Given the description of an element on the screen output the (x, y) to click on. 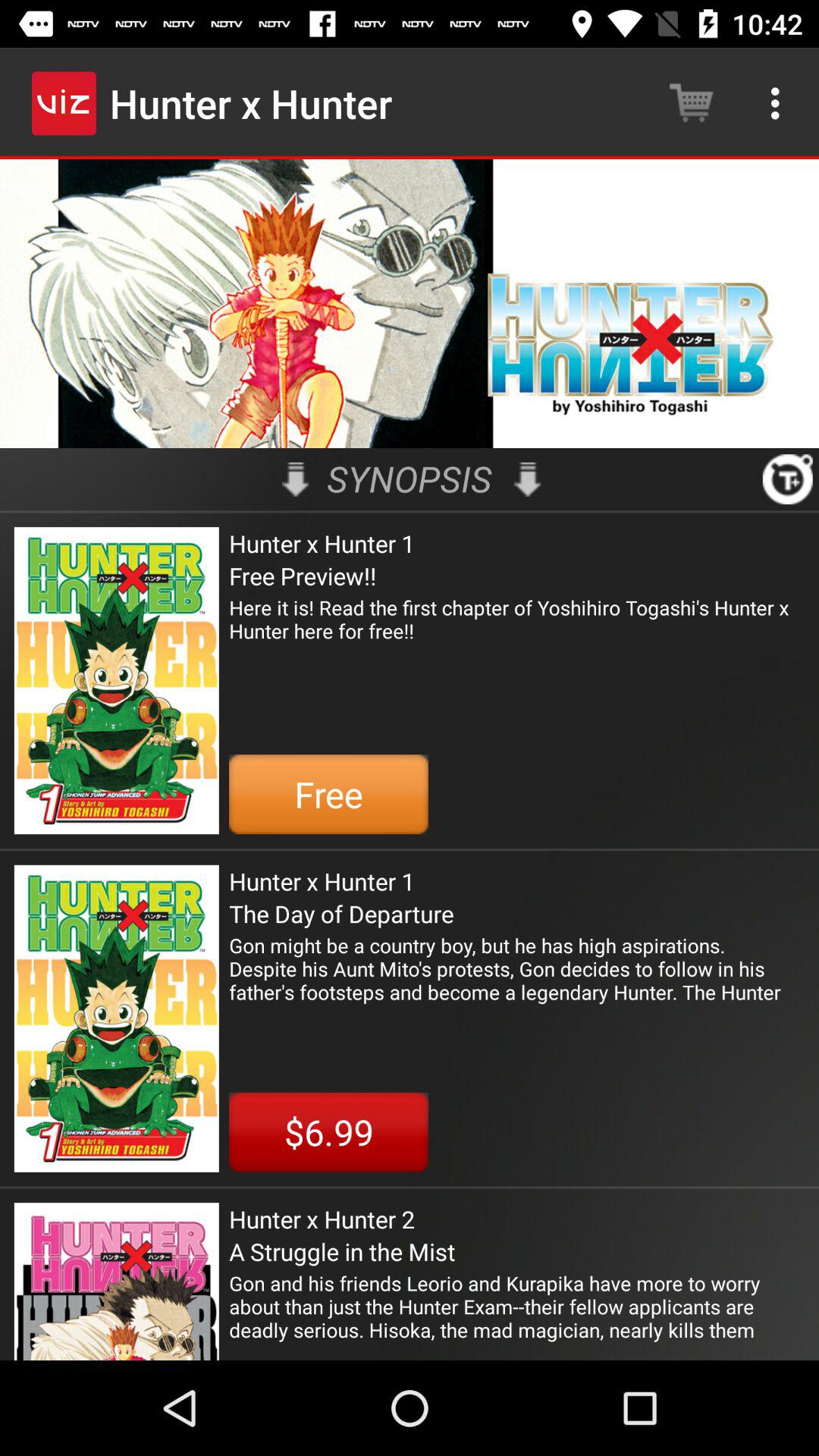
click gon might be item (516, 968)
